Given the description of an element on the screen output the (x, y) to click on. 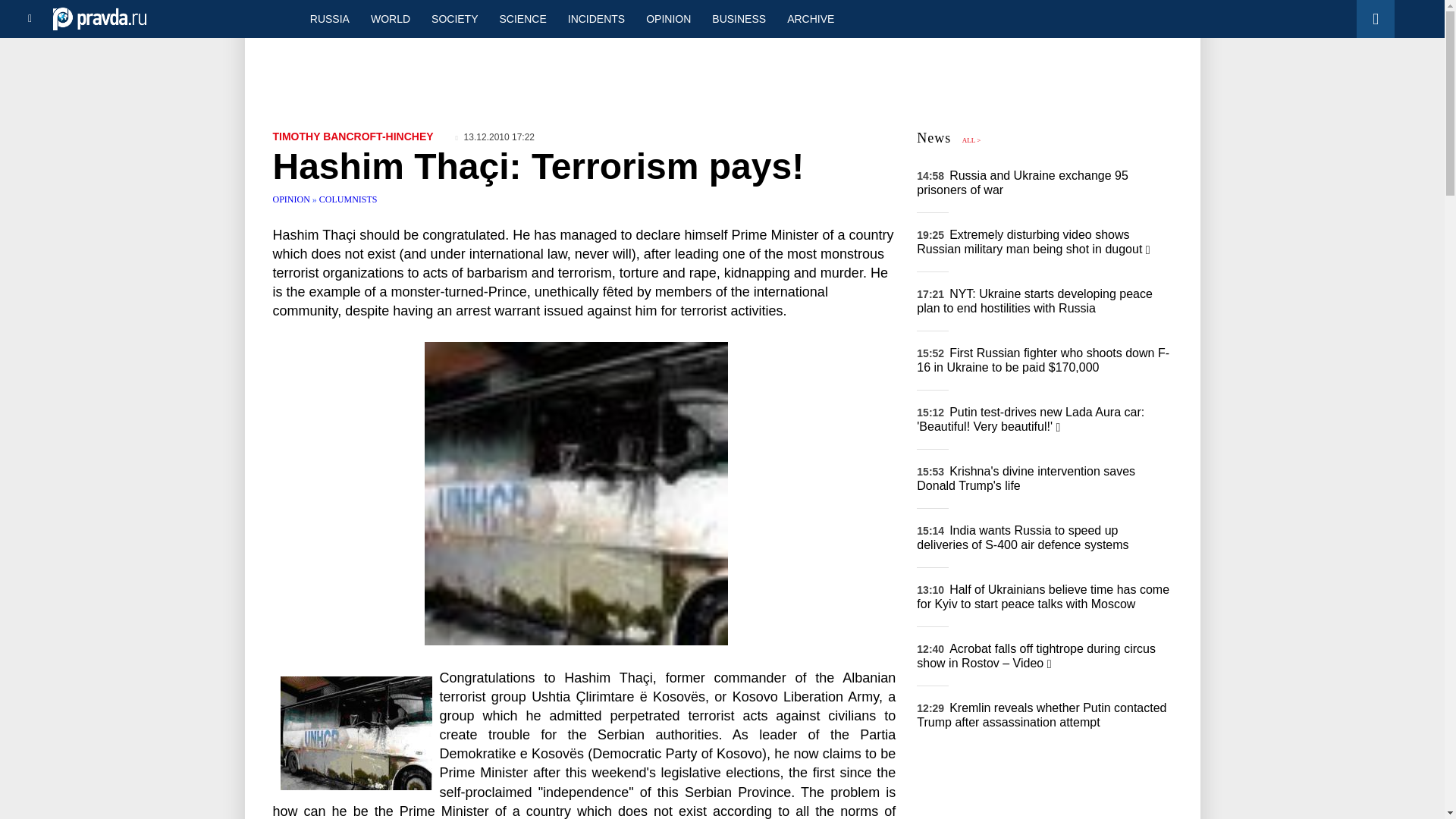
SOCIETY (453, 18)
OPINION (667, 18)
SCIENCE (523, 18)
Krishna's divine intervention saves Donald Trump's life (1026, 478)
WORLD (389, 18)
BUSINESS (738, 18)
ARCHIVE (810, 18)
News (933, 137)
COLUMNISTS (347, 199)
INCIDENTS (595, 18)
TIMOTHY BANCROFT-HINCHEY (353, 136)
OPINION (293, 199)
